Given the description of an element on the screen output the (x, y) to click on. 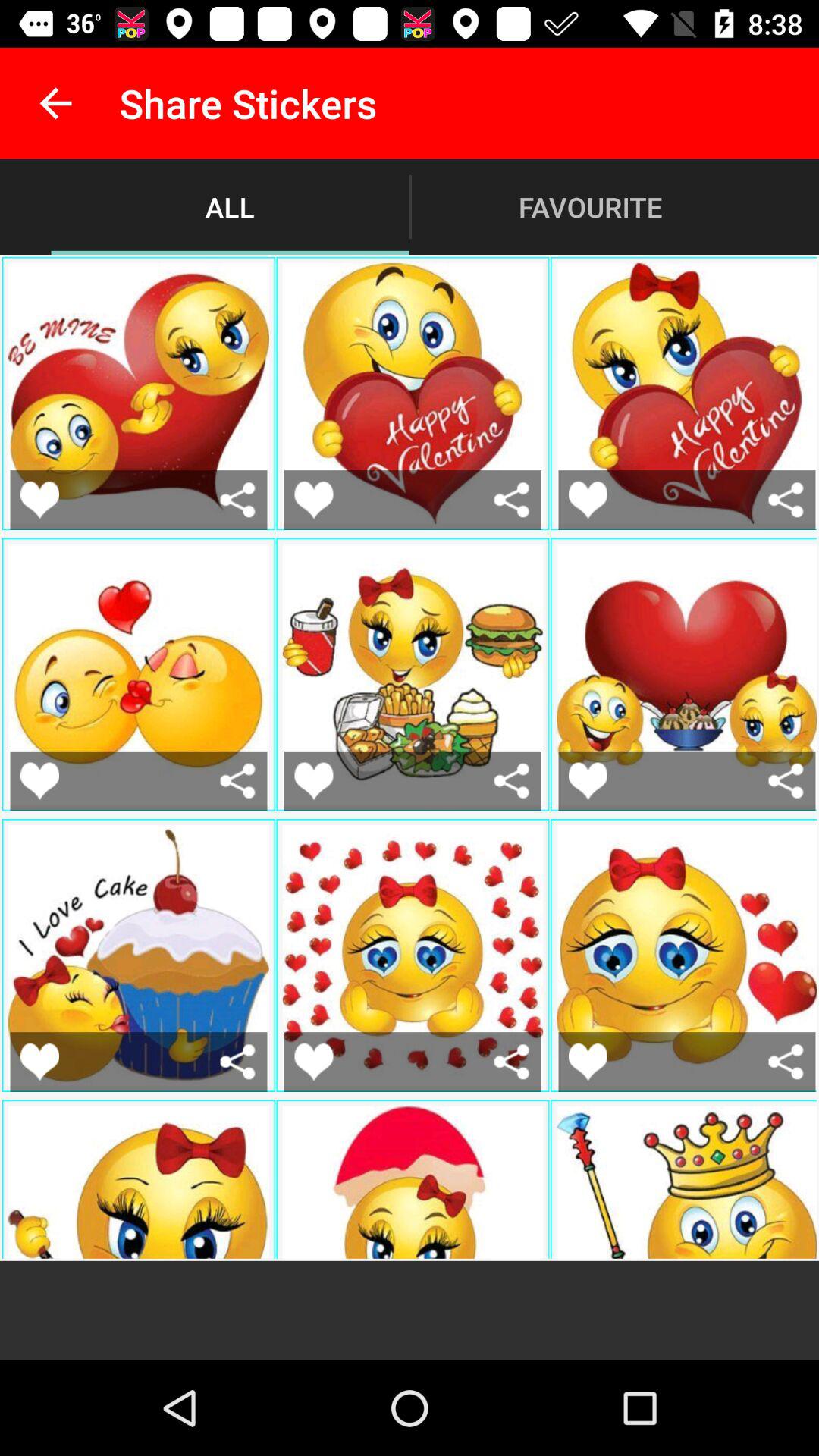
like the item (39, 780)
